Given the description of an element on the screen output the (x, y) to click on. 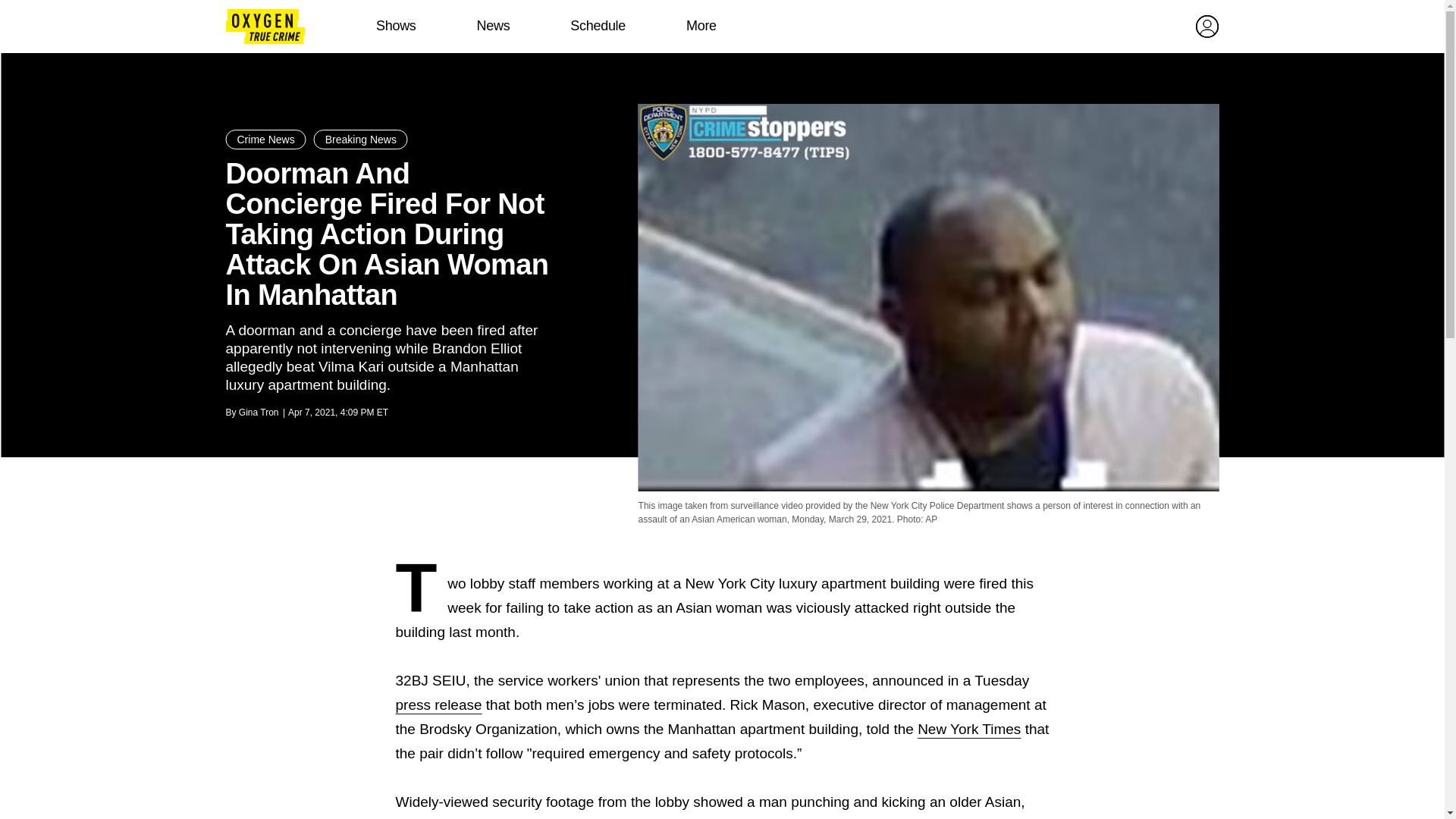
Gina Tron (258, 412)
More (700, 26)
News (492, 26)
Breaking News (360, 139)
Shows (395, 26)
Schedule (598, 26)
Crime News (265, 139)
press release (438, 704)
